Given the description of an element on the screen output the (x, y) to click on. 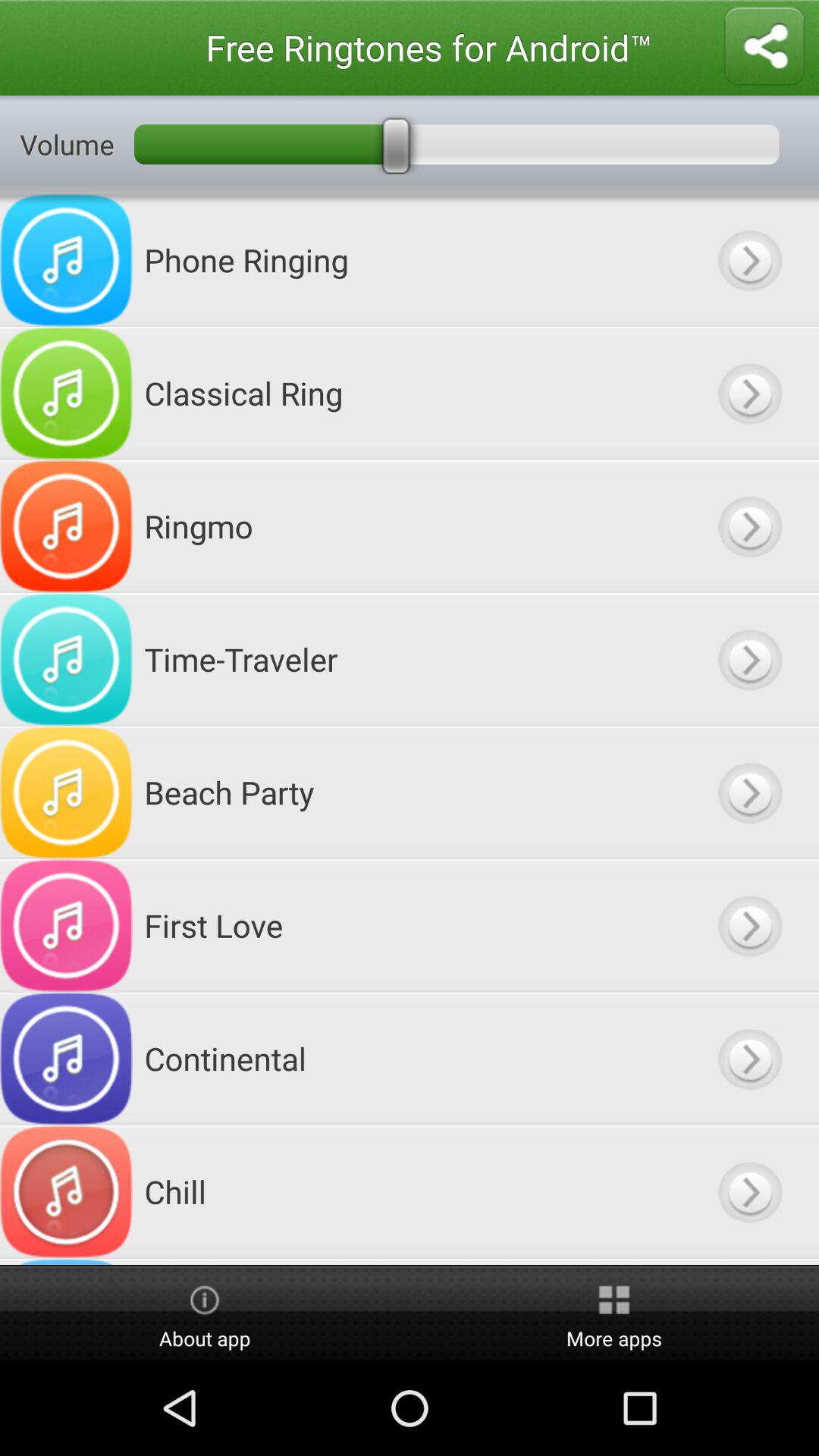
play ringtone (749, 659)
